Given the description of an element on the screen output the (x, y) to click on. 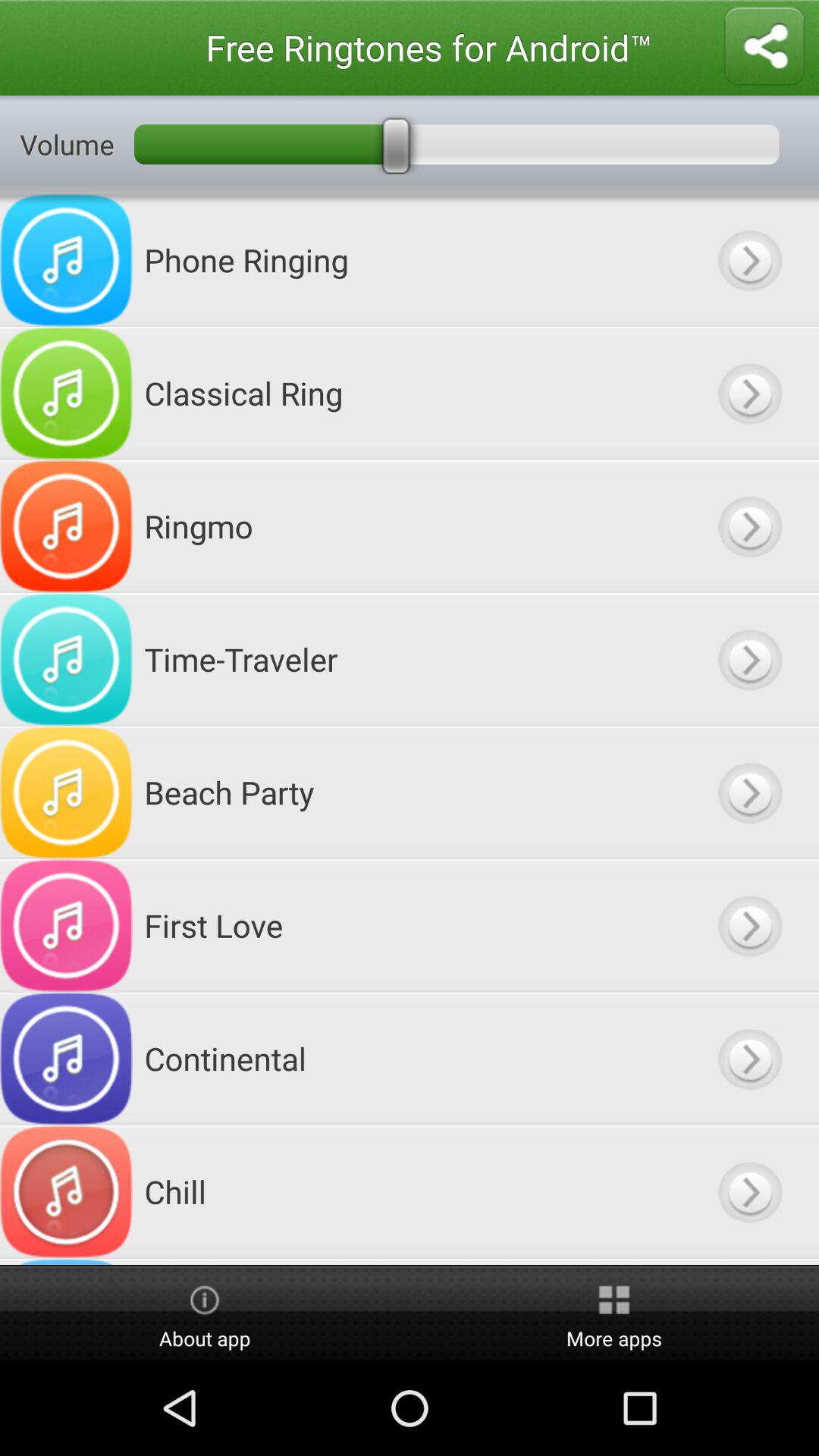
play ringtone (749, 659)
